Given the description of an element on the screen output the (x, y) to click on. 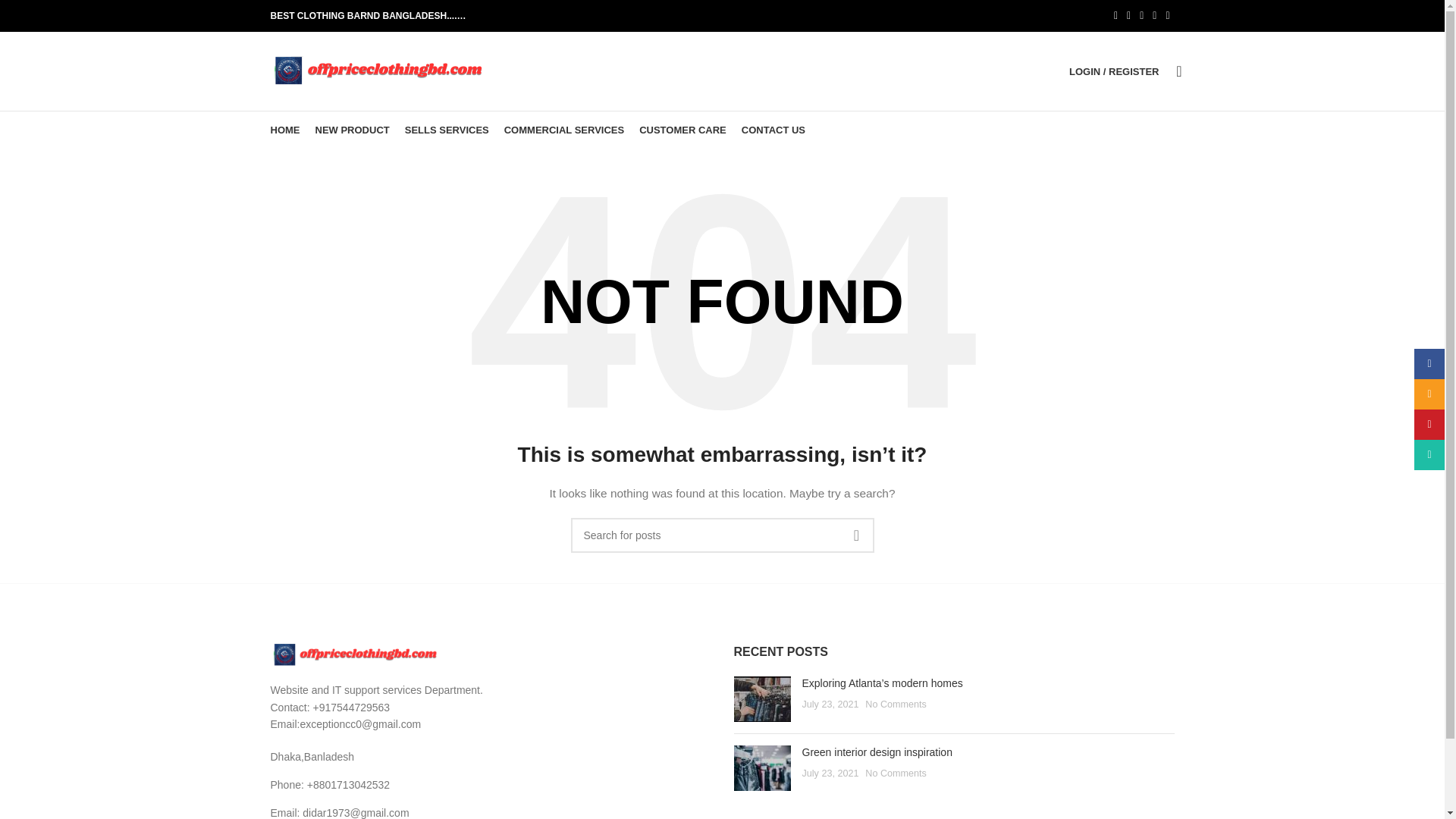
CONTACT US (773, 130)
SELLS SERVICES (446, 130)
SEARCH (855, 534)
CUSTOMER CARE (682, 130)
NEW PRODUCT (352, 130)
Green interior design inspiration (877, 752)
Search for posts (721, 534)
Log in (1034, 312)
COMMERCIAL SERVICES (563, 130)
My account (1113, 71)
